Given the description of an element on the screen output the (x, y) to click on. 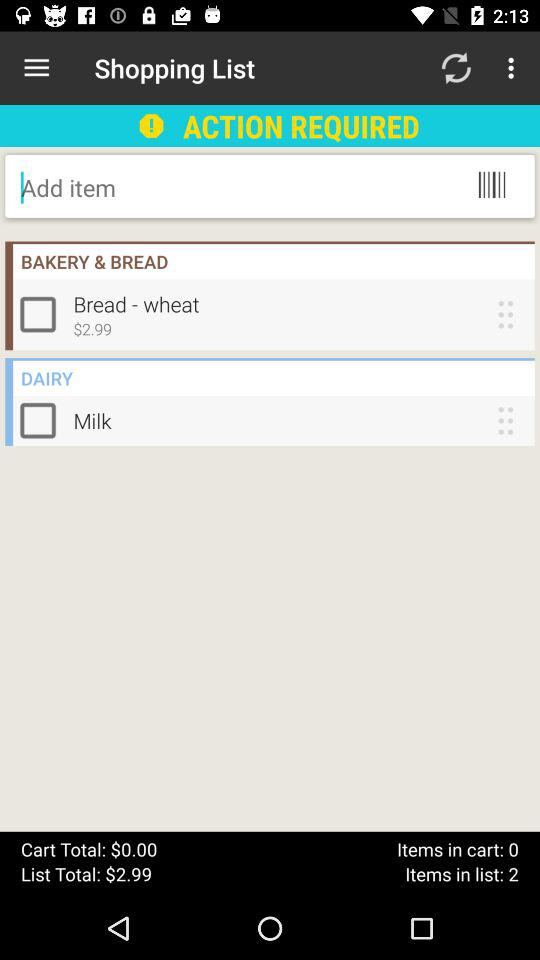
launch the item next to the shopping list (36, 68)
